Given the description of an element on the screen output the (x, y) to click on. 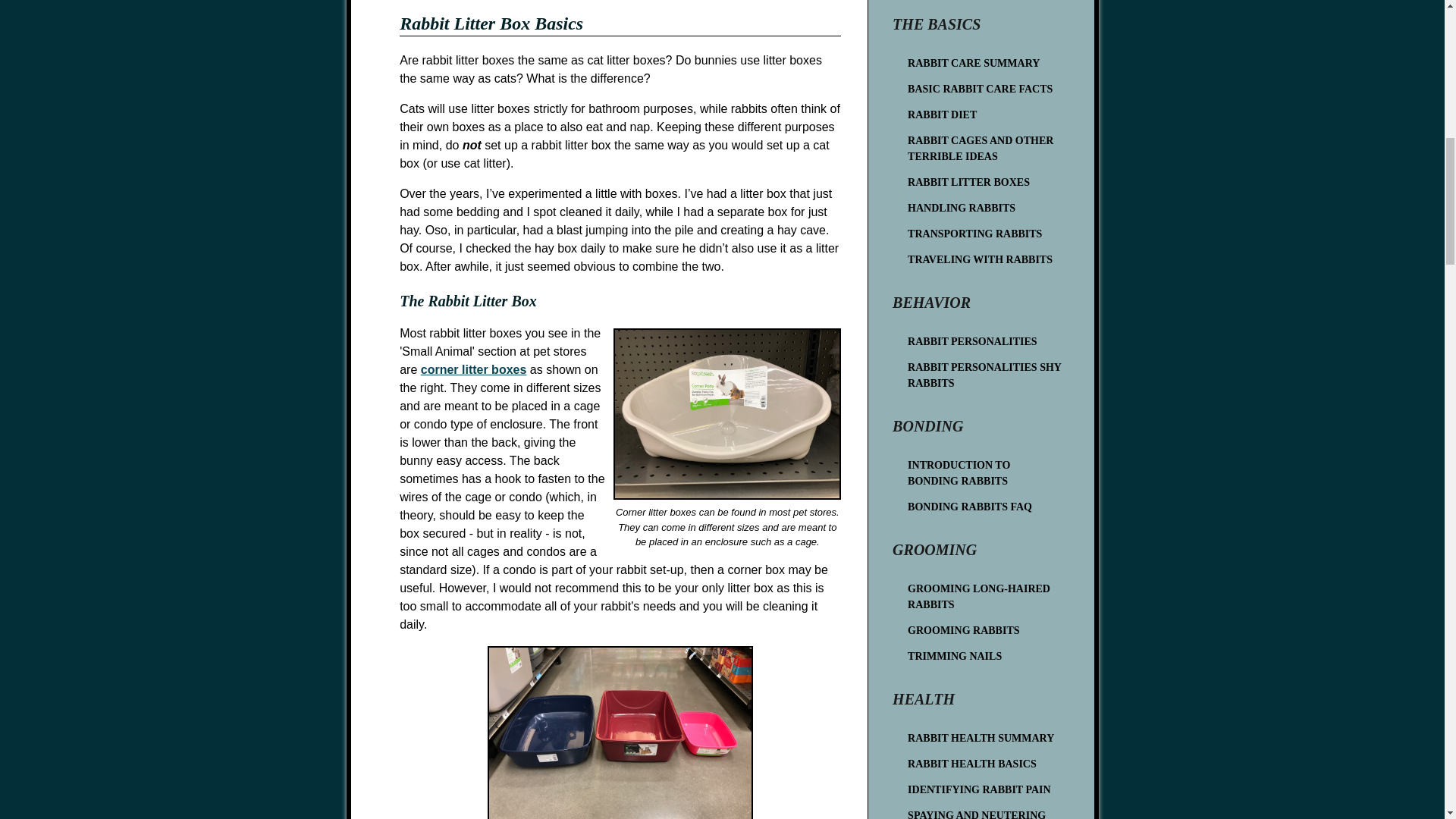
BASIC RABBIT CARE FACTS (983, 86)
BONDING RABBITS FAQ (983, 503)
RABBIT HEALTH SUMMARY (983, 735)
TRAVELING WITH RABBITS (983, 257)
corner litter boxes (473, 369)
RABBIT HEALTH BASICS (983, 760)
TRIMMING NAILS (983, 653)
GROOMING RABBITS (983, 627)
GROOMING LONG-HAIRED RABBITS (983, 594)
RABBIT CAGES AND OTHER TERRIBLE IDEAS (983, 146)
RABBIT LITTER BOXES (983, 179)
RABBIT CARE SUMMARY (983, 60)
TRANSPORTING RABBITS (983, 231)
RABBIT DIET (983, 112)
HANDLING RABBITS (983, 205)
